Given the description of an element on the screen output the (x, y) to click on. 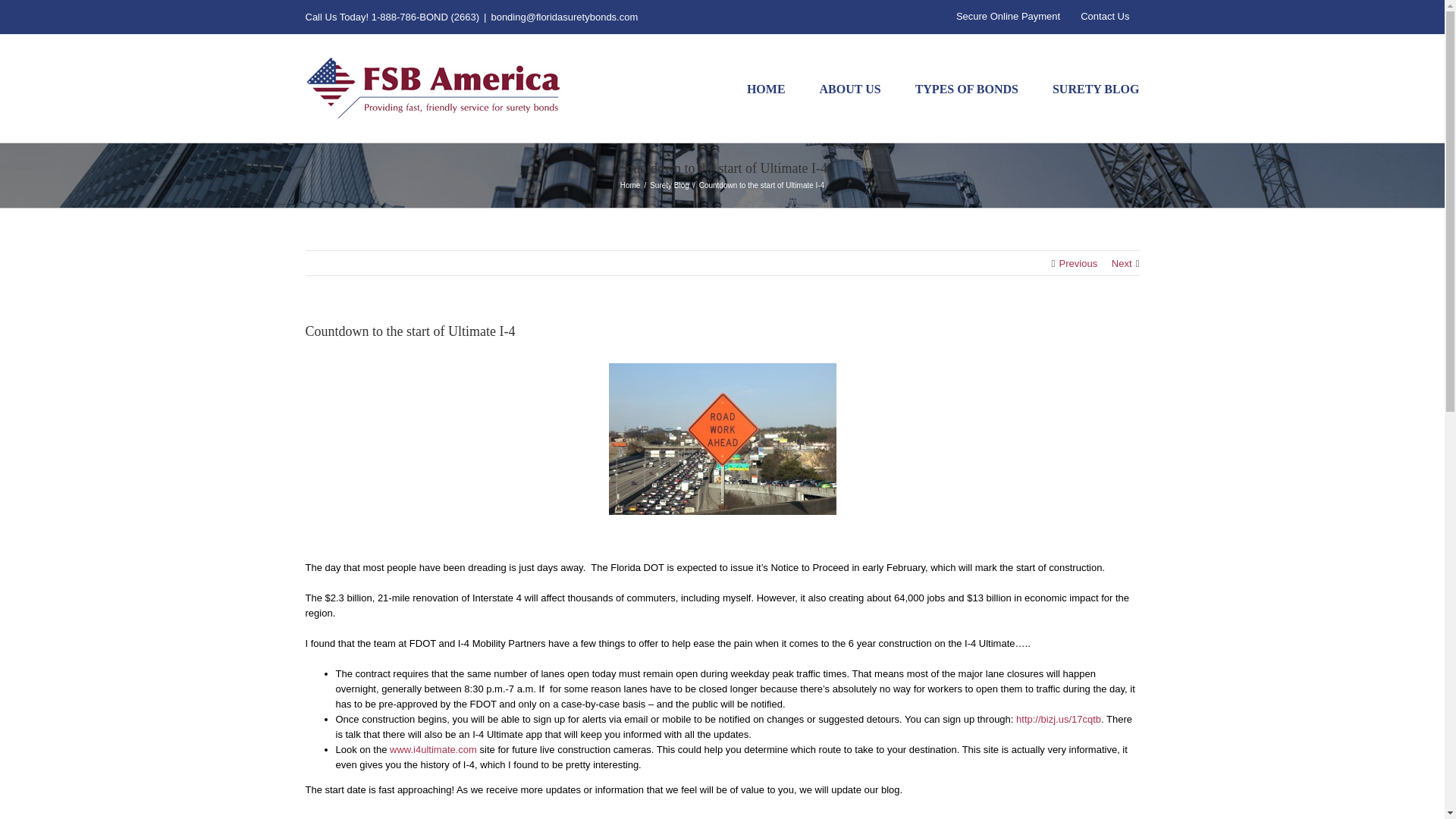
TYPES OF BONDS (966, 87)
Contact Us (1104, 16)
www.i4ultimate.com (433, 749)
Previous (1078, 263)
Surety Blog (668, 184)
Secure Online Payment (1008, 16)
Home (630, 184)
www.I4ultimate.com (433, 749)
